Given the description of an element on the screen output the (x, y) to click on. 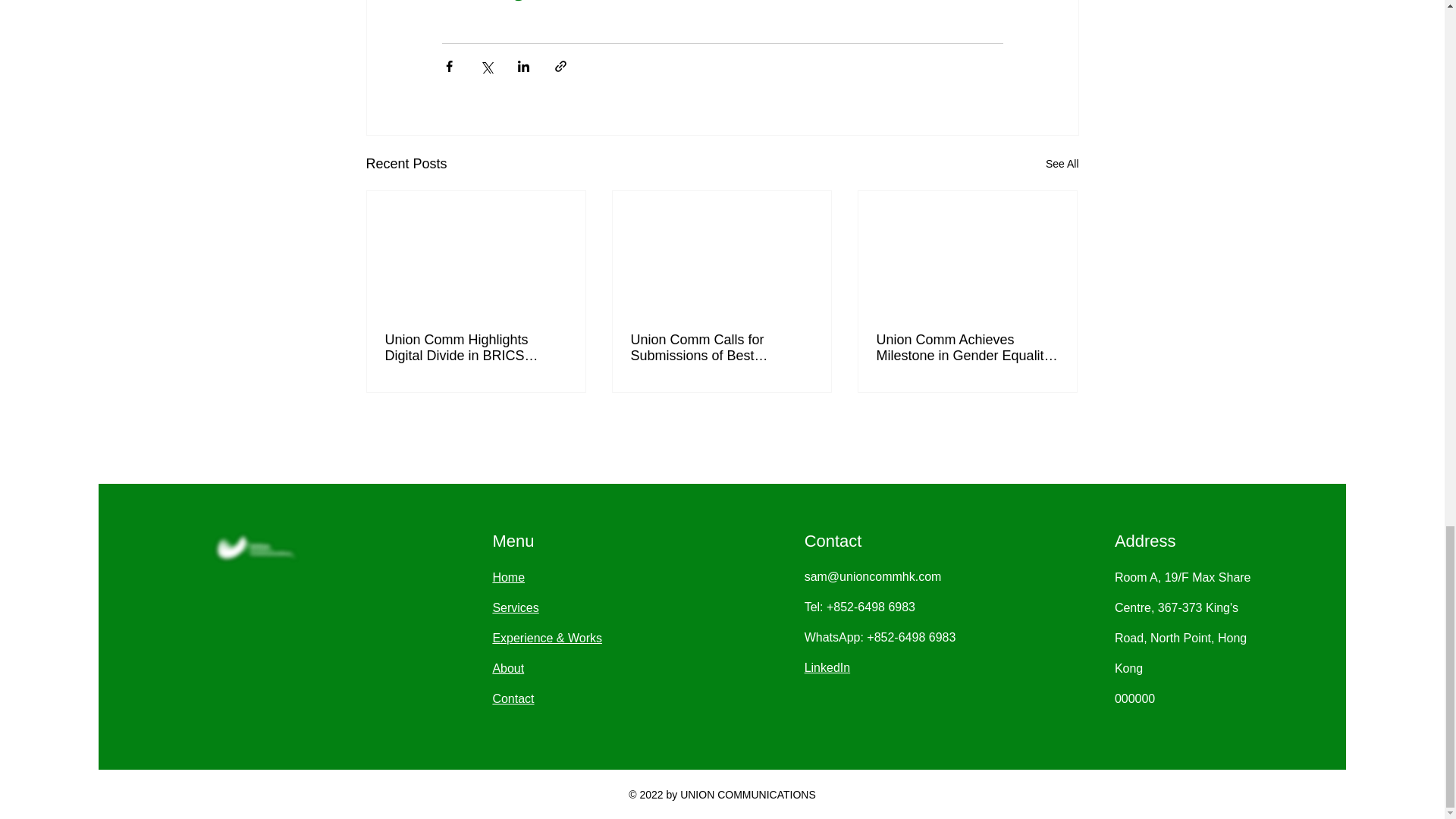
Services (515, 607)
About (508, 667)
Home (508, 576)
Contact (513, 698)
LinkedIn (827, 667)
See All (1061, 164)
